Given the description of an element on the screen output the (x, y) to click on. 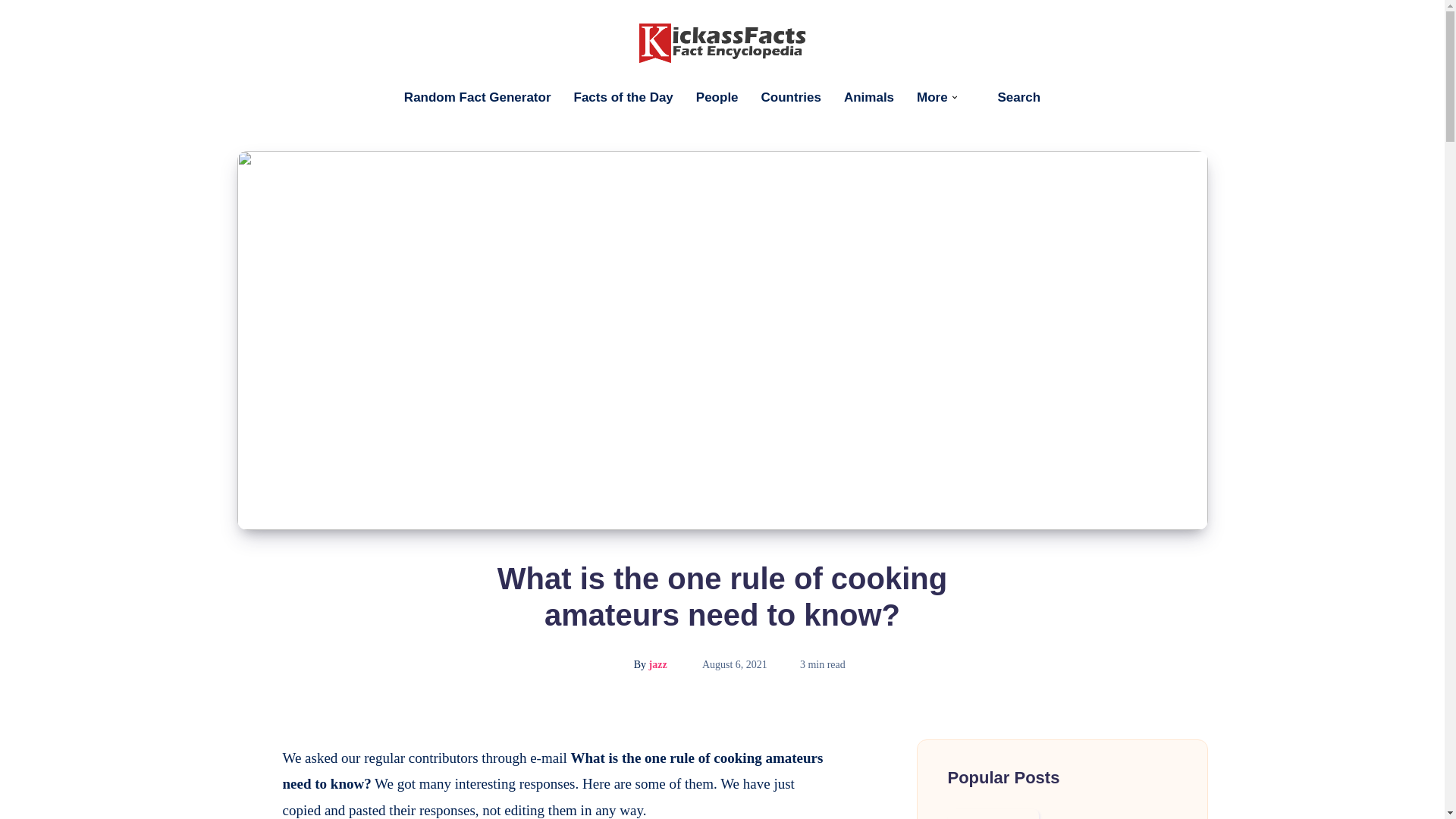
Countries (791, 97)
People (716, 97)
More (932, 97)
Animals (868, 97)
Random Fact Generator (477, 97)
Facts of the Day (622, 97)
